Given the description of an element on the screen output the (x, y) to click on. 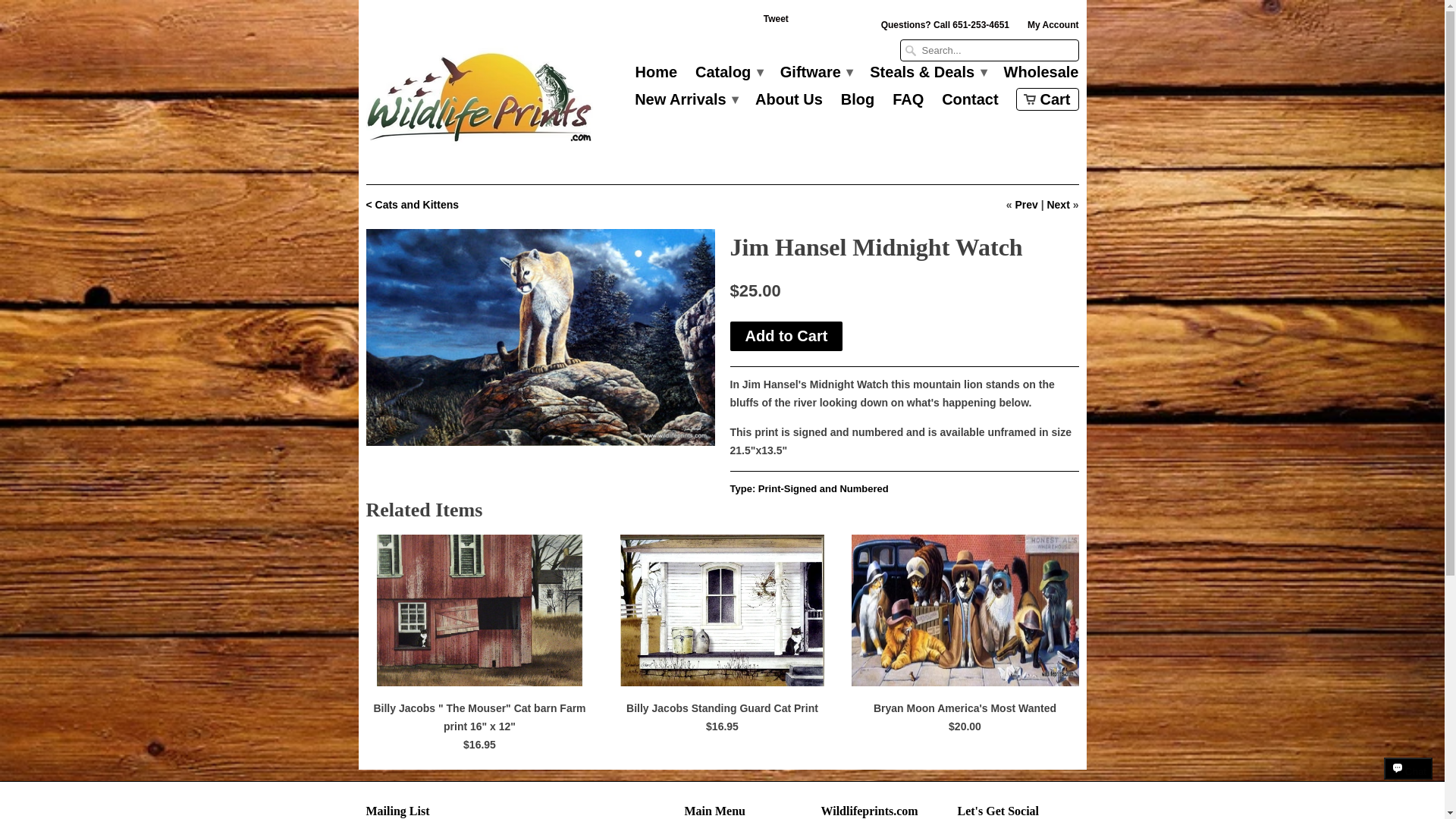
My Account  (1052, 28)
Home (656, 75)
My Account (1052, 28)
Catalog (728, 76)
Giftware (815, 76)
Cart (1047, 98)
Add to Cart (786, 336)
FAQ (907, 102)
Questions? Call 651-253-4651 (944, 28)
Blog (858, 102)
